Given the description of an element on the screen output the (x, y) to click on. 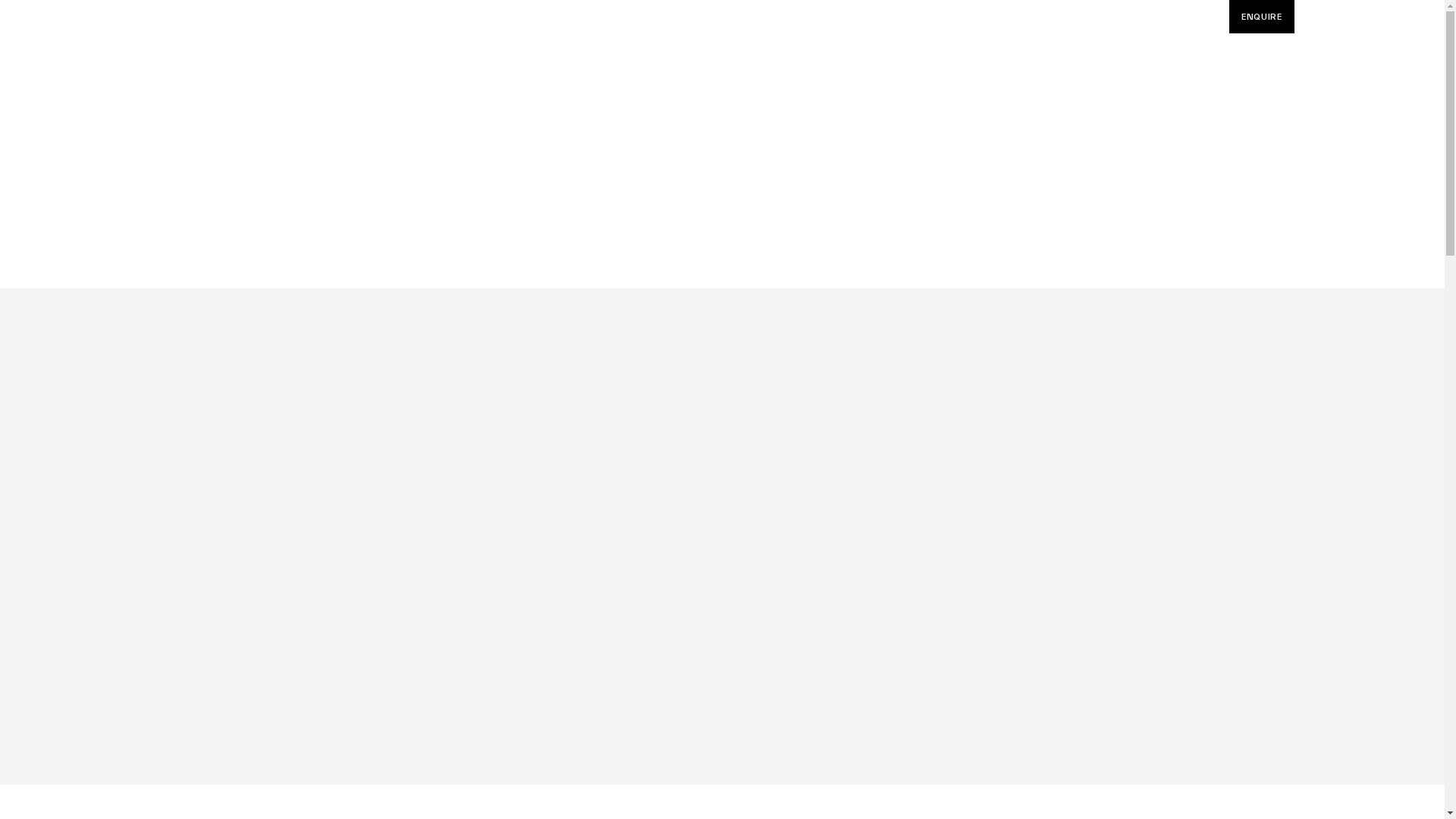
Skip to content Element type: text (0, 0)
ENQUIRE Element type: text (1261, 16)
REGISTER NOW Element type: text (721, 542)
